Given the description of an element on the screen output the (x, y) to click on. 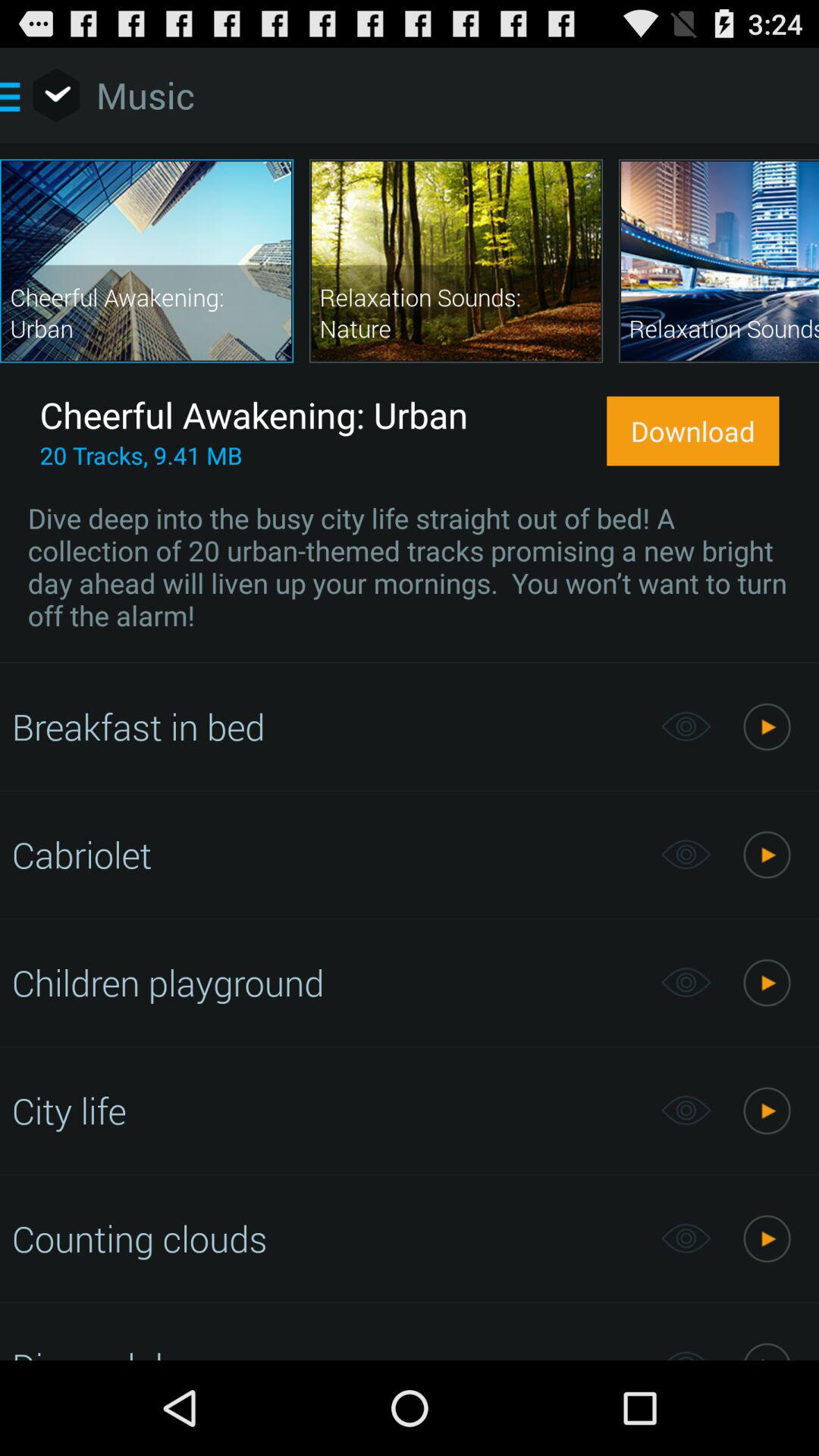
turn off the cabriolet app (327, 854)
